Given the description of an element on the screen output the (x, y) to click on. 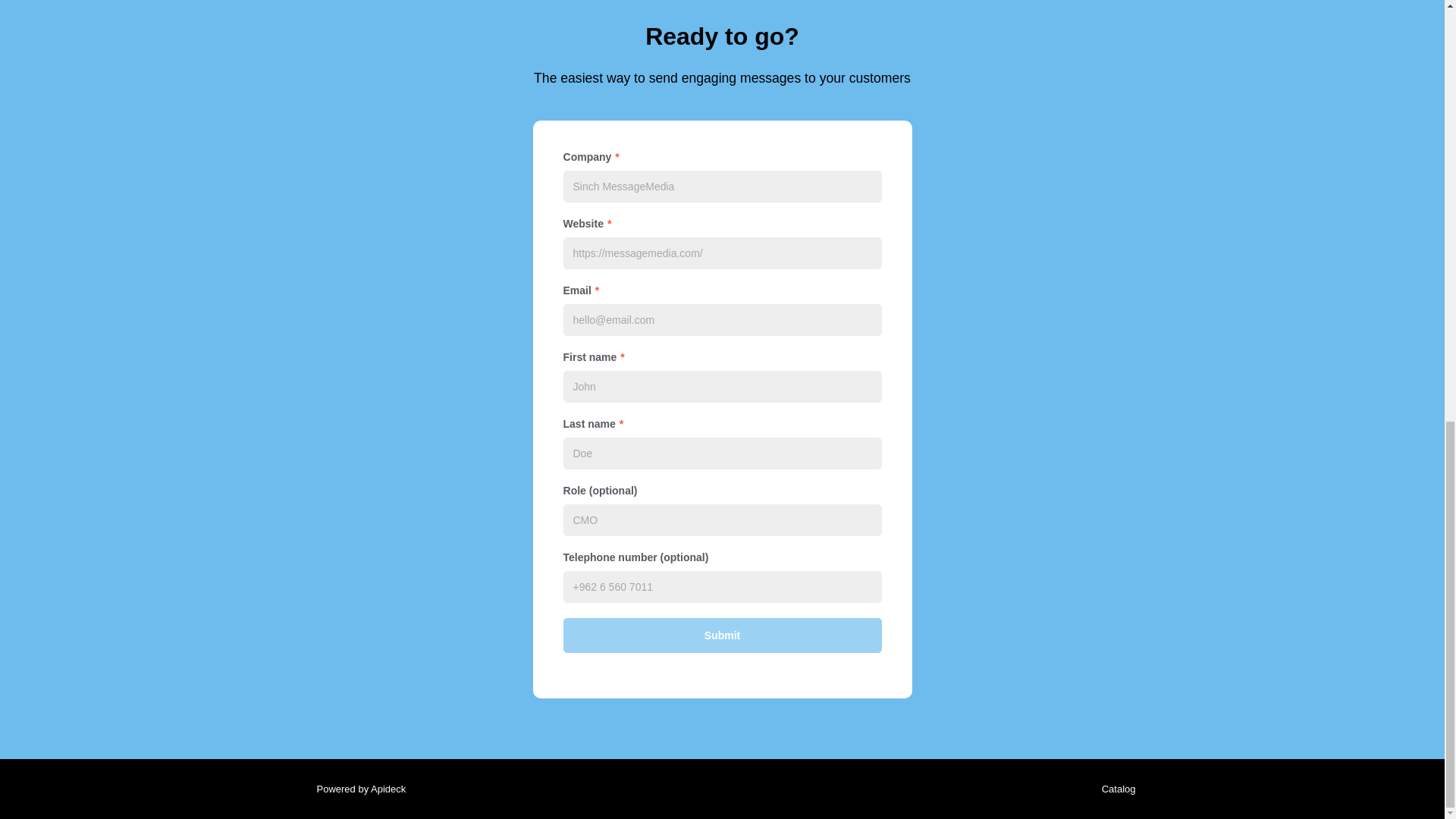
Catalog (1115, 789)
Submit (721, 635)
Powered by Apideck (356, 789)
